Given the description of an element on the screen output the (x, y) to click on. 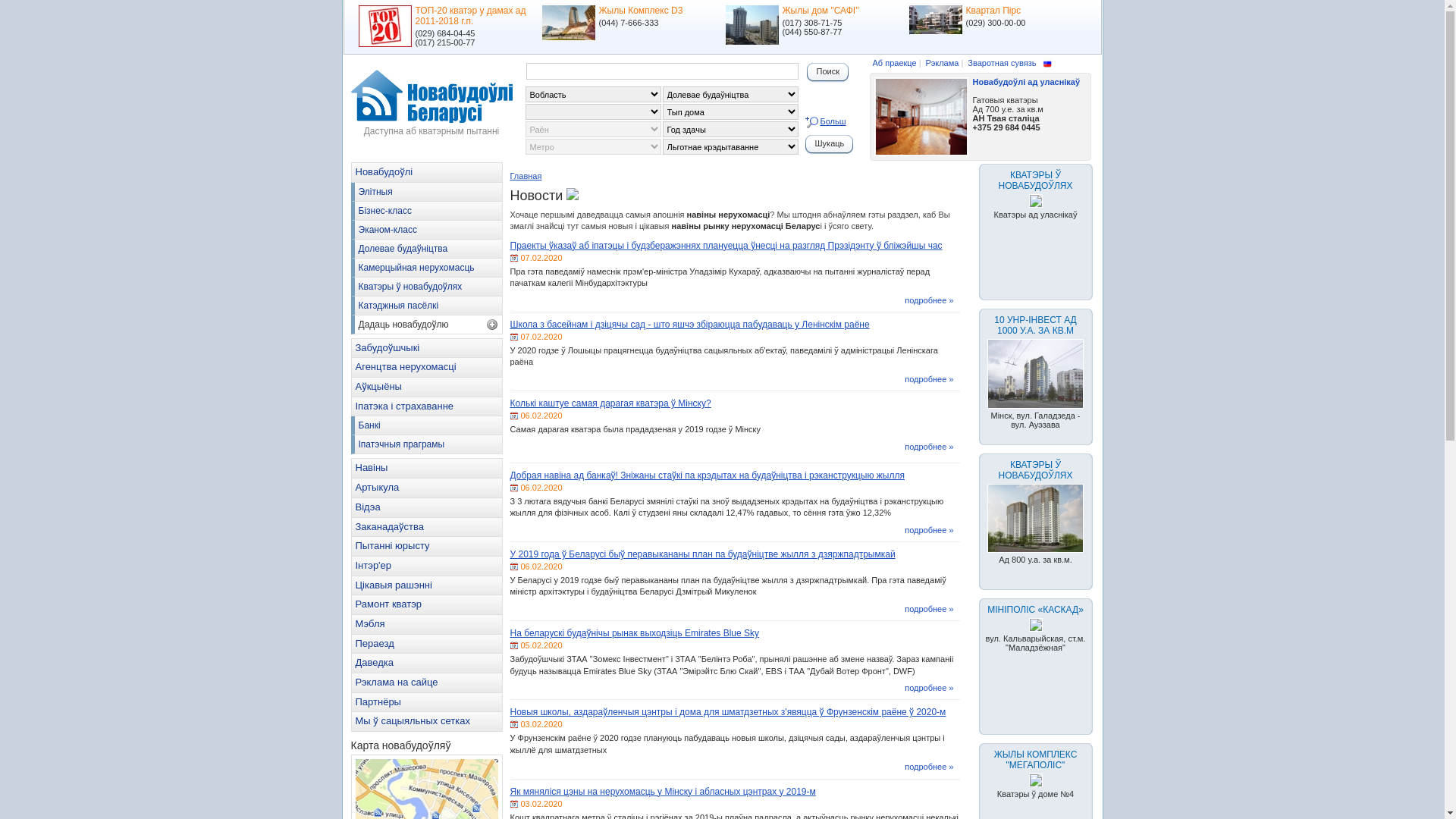
prev Element type: text (349, 26)
next Element type: text (1095, 26)
